Given the description of an element on the screen output the (x, y) to click on. 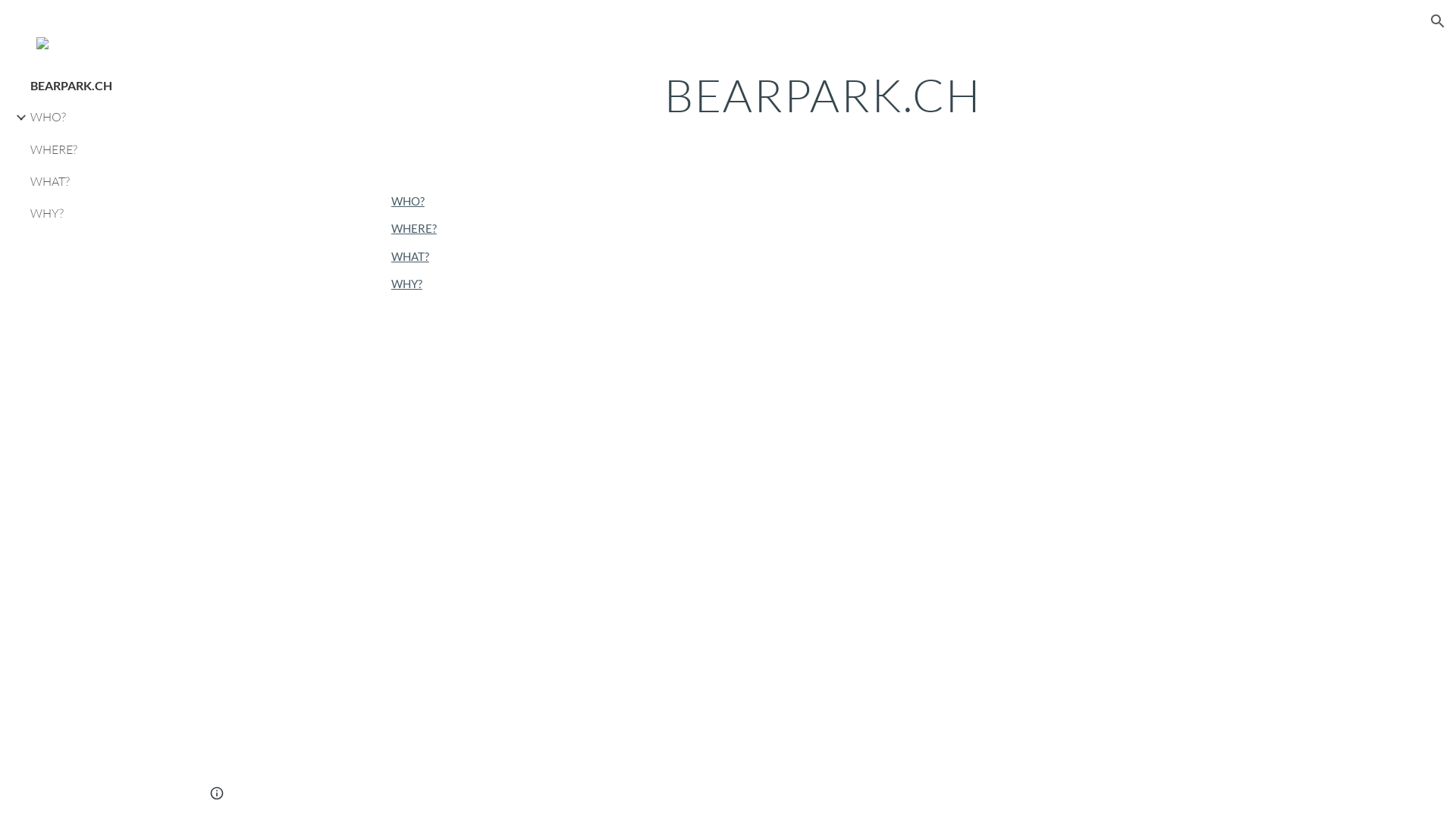
WHY? Element type: text (406, 283)
WHO? Element type: text (407, 200)
WHAT? Element type: text (103, 181)
WHO? Element type: text (103, 117)
BEARPARK.CH Element type: text (103, 85)
WHERE? Element type: text (103, 149)
WHERE? Element type: text (413, 228)
Expand/Collapse Element type: hover (16, 117)
WHY? Element type: text (103, 213)
WHAT? Element type: text (410, 256)
